Given the description of an element on the screen output the (x, y) to click on. 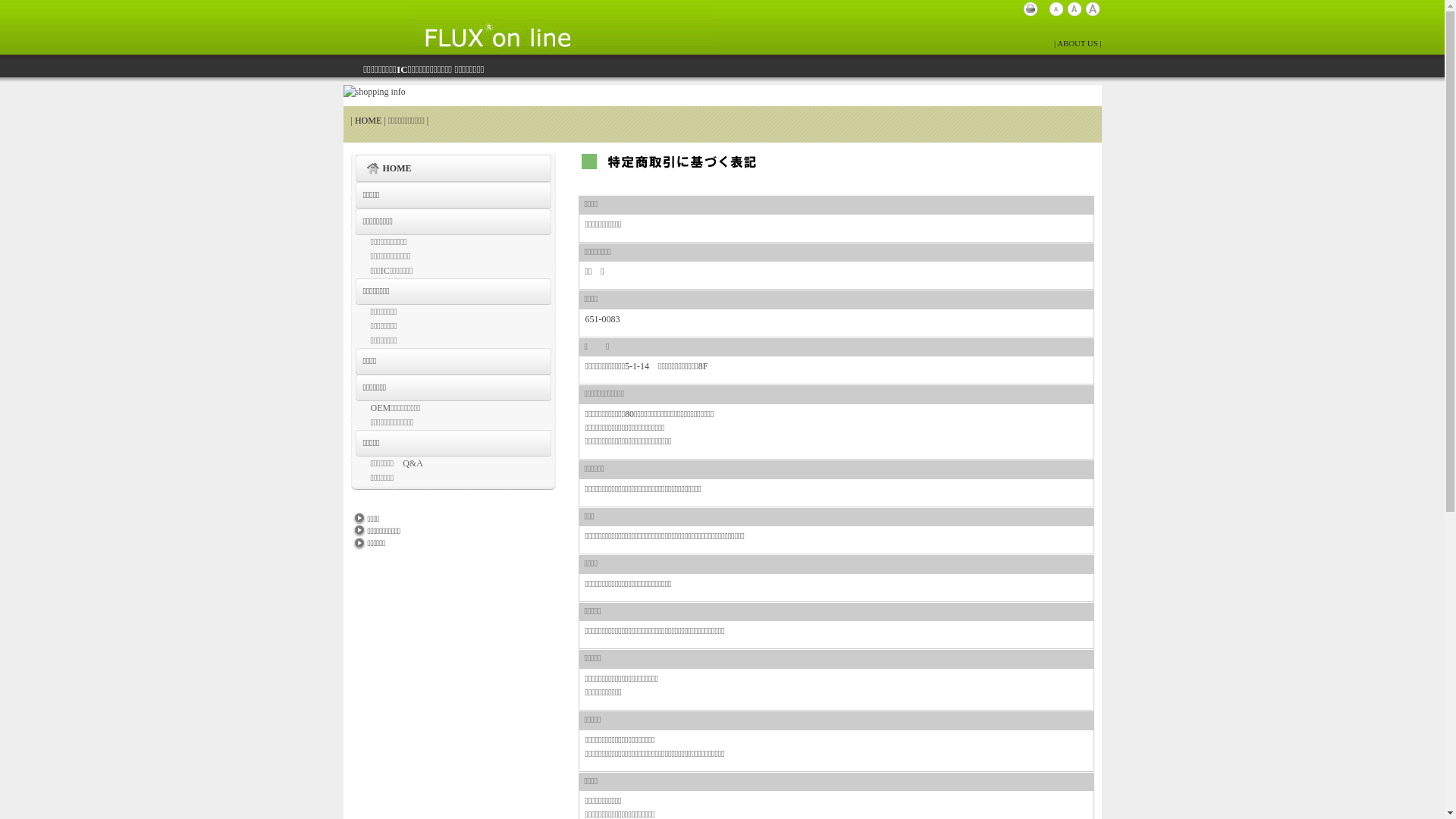
| ABOUT US | Element type: text (1077, 42)
HOME Element type: text (452, 168)
HOME Element type: text (367, 120)
